Given the description of an element on the screen output the (x, y) to click on. 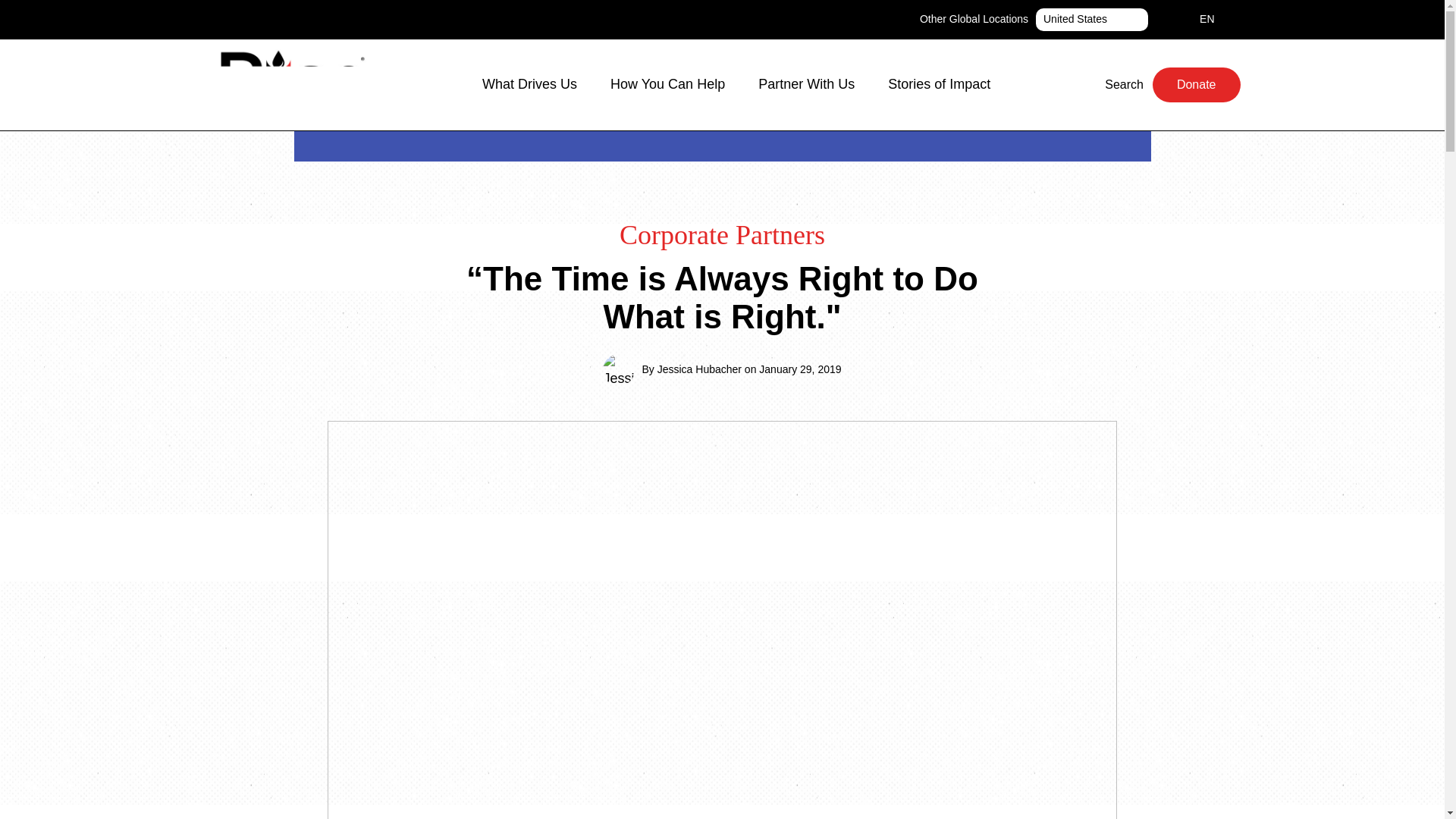
Rise Against Hunger homepage (291, 84)
  Search (1114, 84)
Partner With Us (813, 84)
How You Can Help (1203, 19)
What Drives Us (674, 84)
Stories of Impact (1091, 19)
Donate (536, 84)
